Given the description of an element on the screen output the (x, y) to click on. 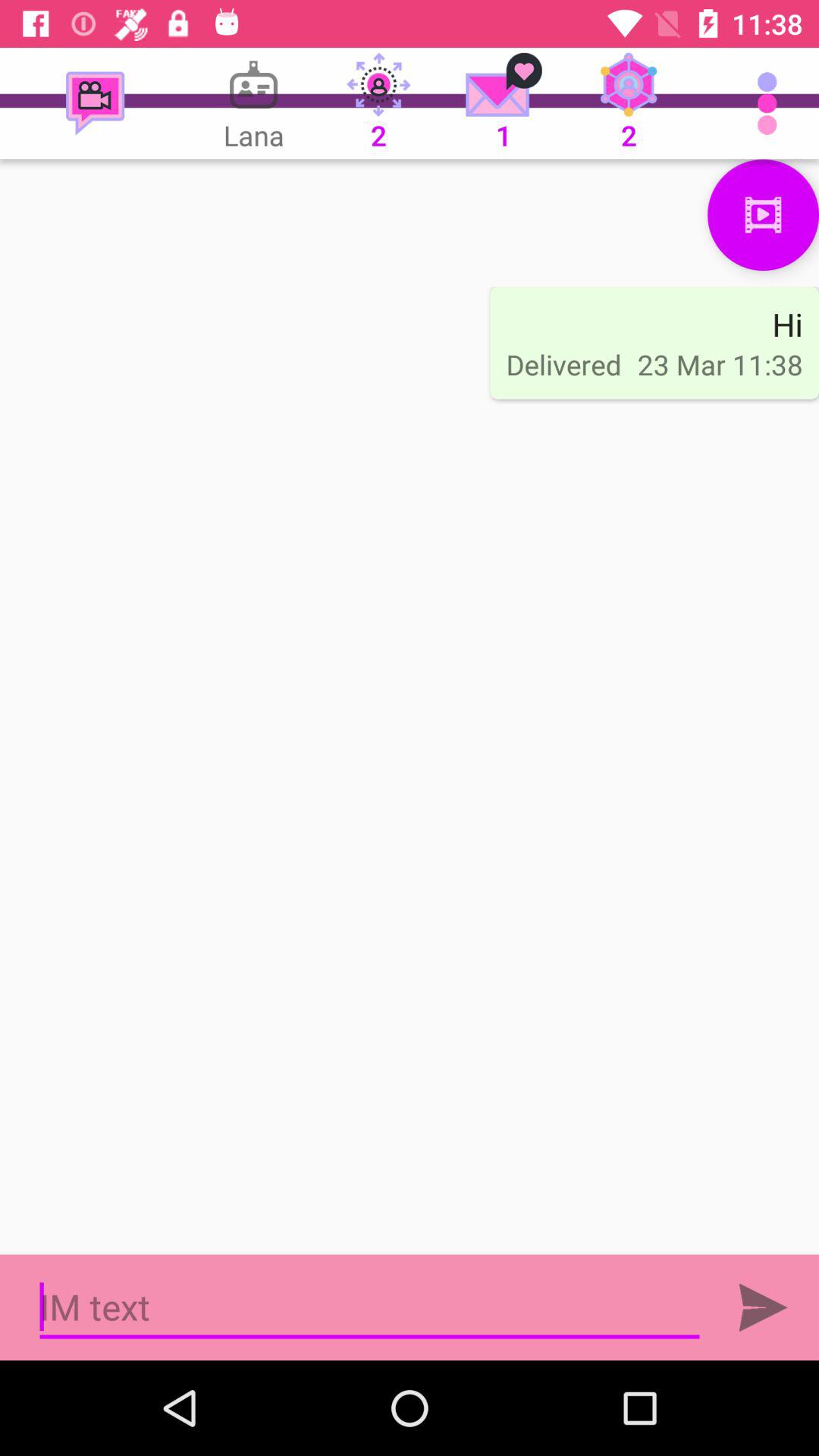
enter text (369, 1307)
